Given the description of an element on the screen output the (x, y) to click on. 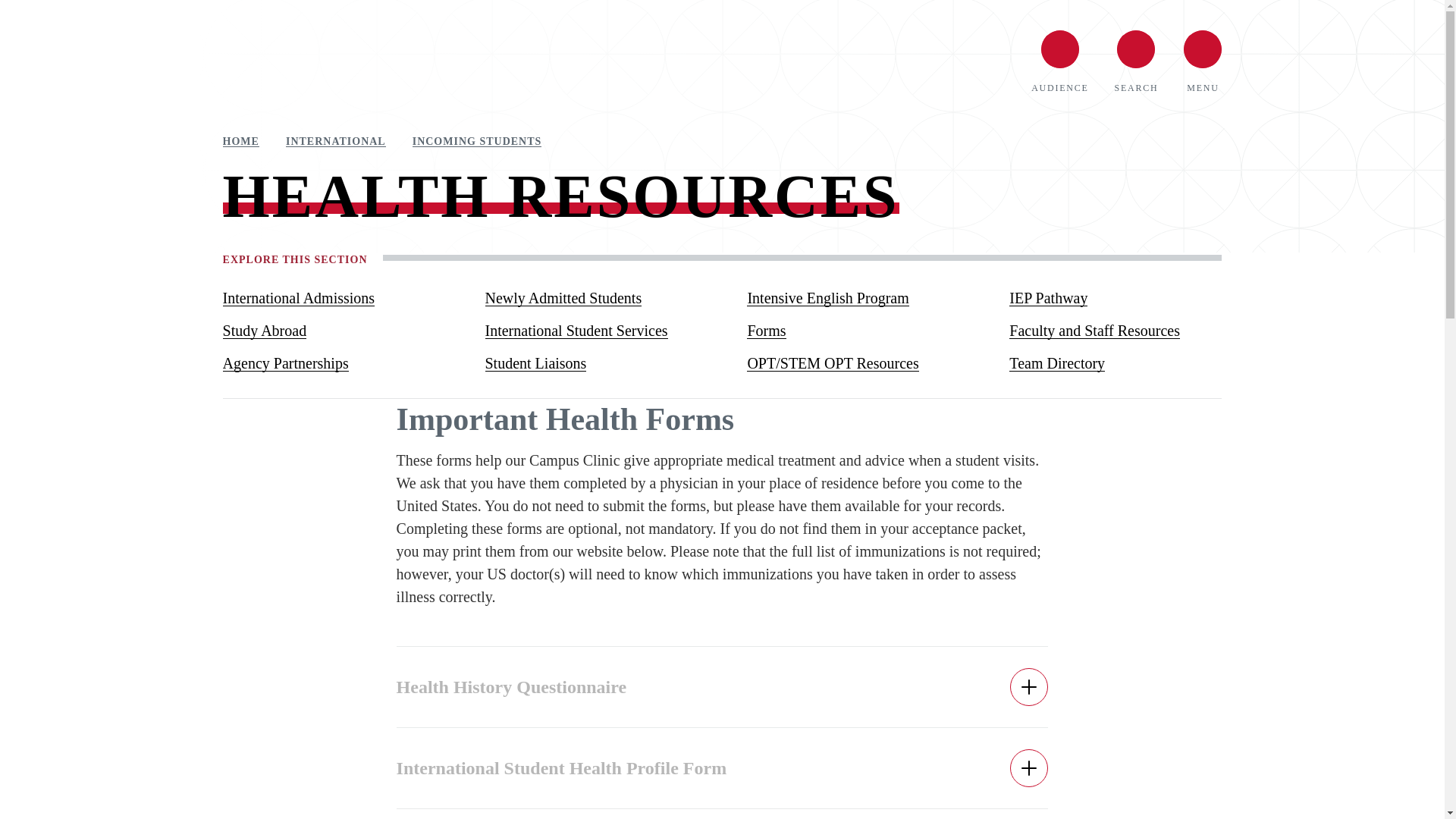
Health History Questionnaire (722, 687)
International Student Services (590, 330)
Forms (852, 330)
Faculty and Staff Resources (1115, 330)
International Admissions (328, 297)
IEP Pathway (1115, 297)
INCOMING STUDENTS (476, 141)
HOME (240, 141)
AUDIENCE (1058, 61)
Team Directory (1115, 363)
